Given the description of an element on the screen output the (x, y) to click on. 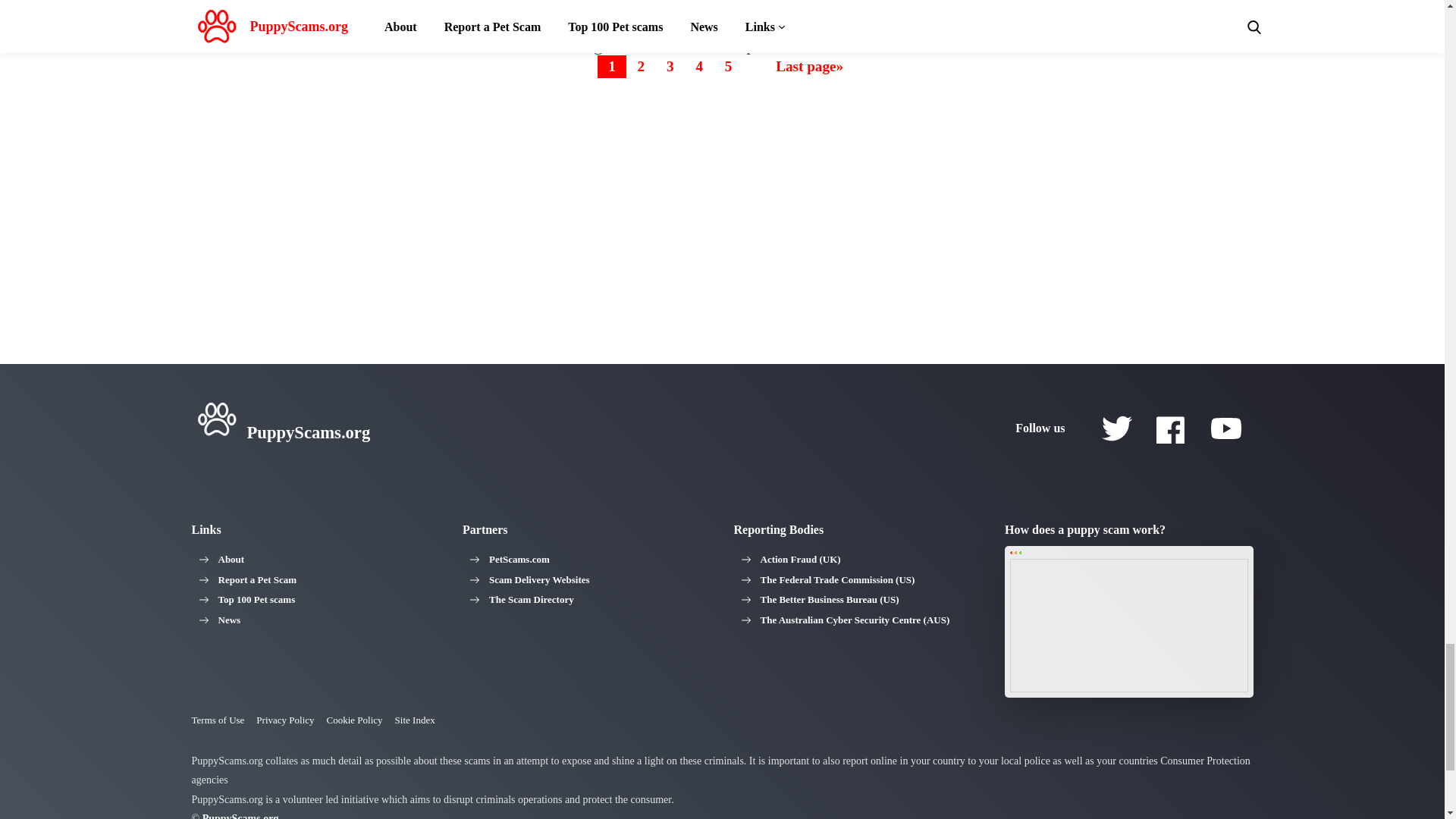
Page 3 (670, 66)
YouTube (1224, 428)
Twitter (1115, 428)
Facebook (1171, 428)
Page 2 (641, 66)
Page 4 (699, 66)
Page 5 (728, 66)
Go to Last Page (809, 66)
